Given the description of an element on the screen output the (x, y) to click on. 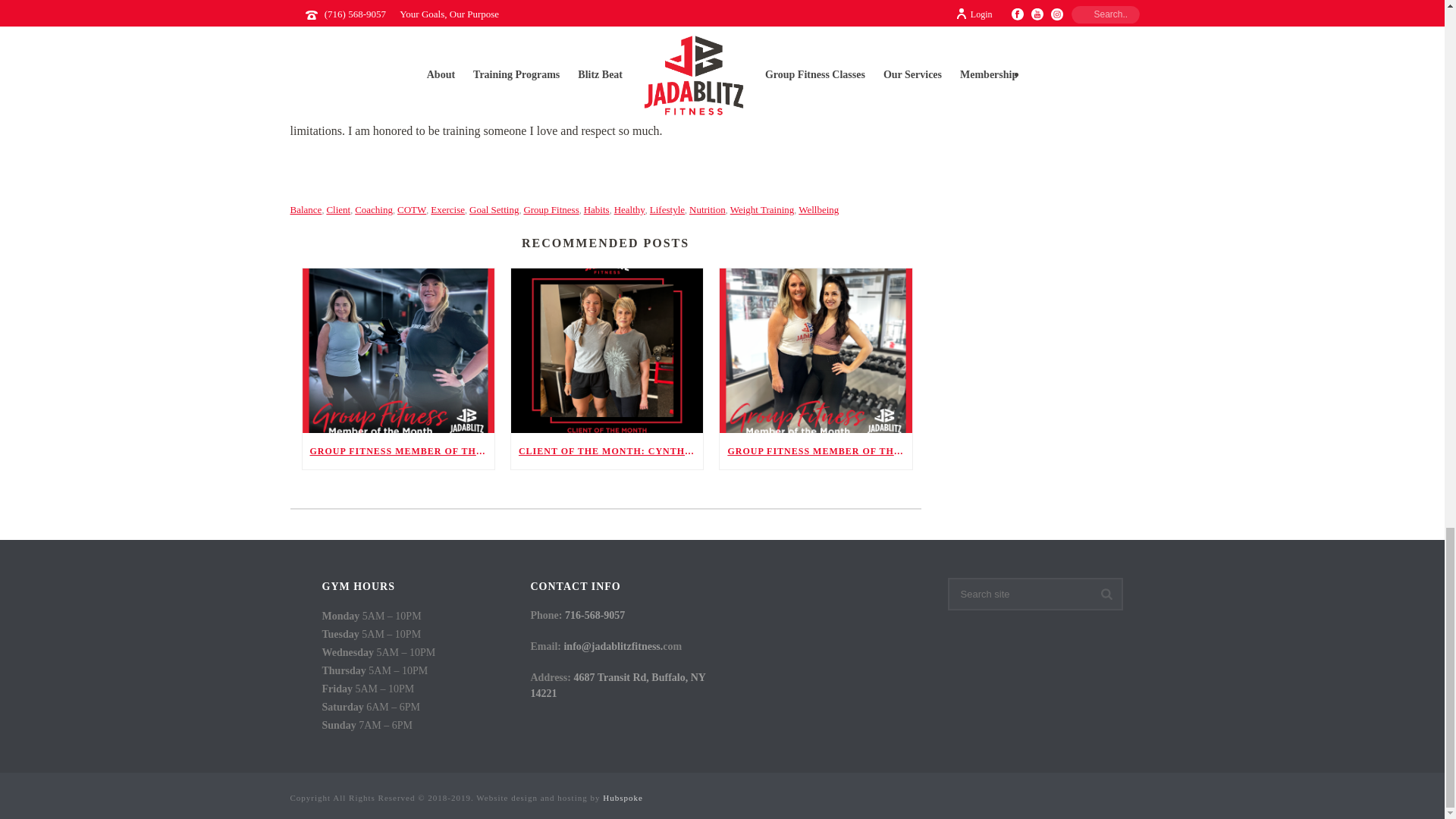
Group Fitness Member of the Month: Deanna (815, 350)
Client of The Month: Cynthia! (607, 350)
Group Fitness Member of the Month: Margie (397, 350)
